Given the description of an element on the screen output the (x, y) to click on. 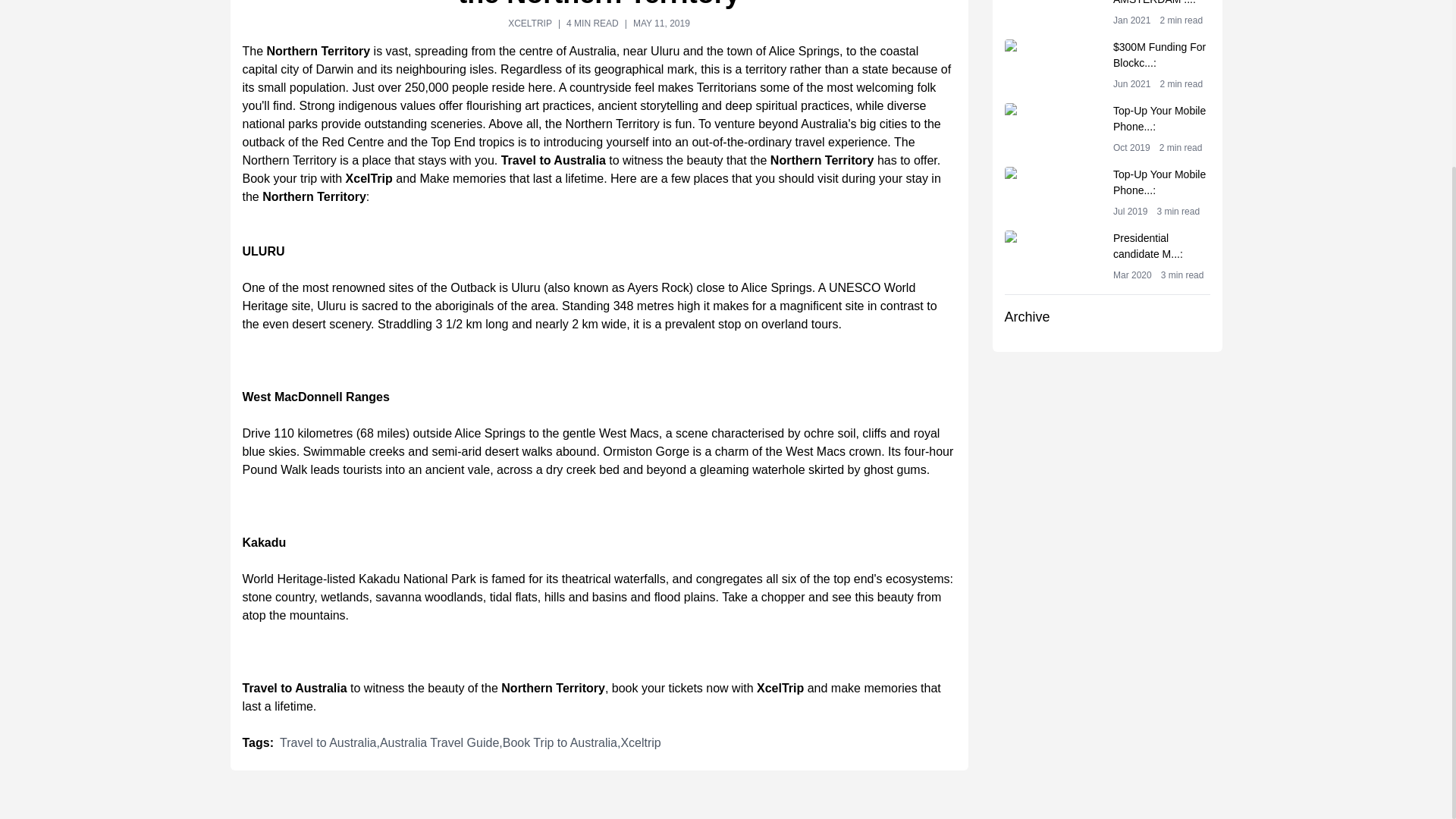
Travel to Australia (552, 160)
Travel to Australia (1106, 128)
